Given the description of an element on the screen output the (x, y) to click on. 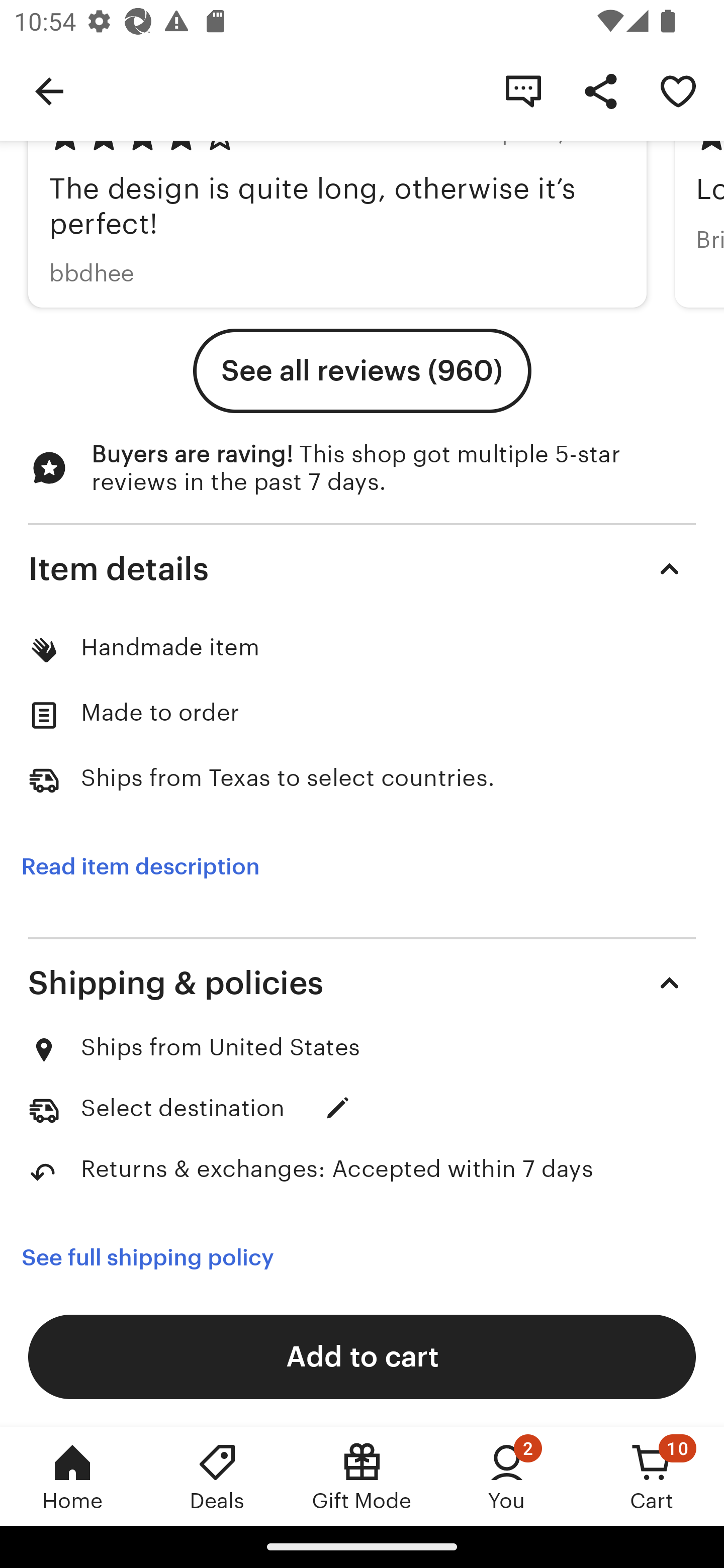
Navigate up (49, 90)
Contact shop (523, 90)
Share (600, 90)
See all reviews (960) (362, 370)
Item details (362, 568)
Read item description (140, 866)
Shipping & policies (362, 982)
Update (337, 1108)
See full shipping policy (147, 1257)
Add to cart (361, 1355)
Deals (216, 1475)
Gift Mode (361, 1475)
You, 2 new notifications You (506, 1475)
Cart, 10 new notifications Cart (651, 1475)
